Given the description of an element on the screen output the (x, y) to click on. 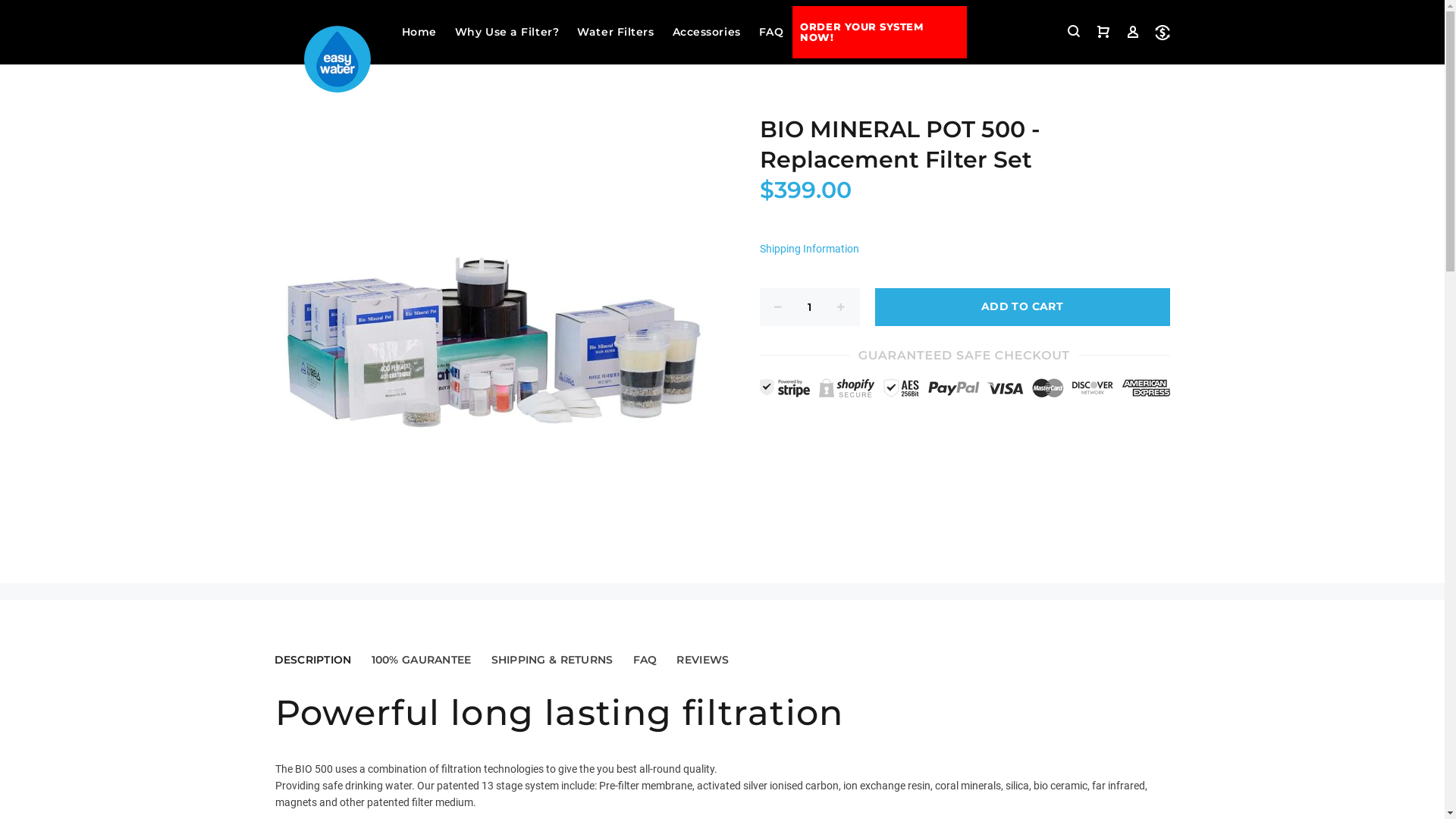
ADD TO CART Element type: text (1022, 307)
Why Use a Filter? Element type: text (506, 31)
Home Element type: text (418, 31)
SHIPPING & RETURNS Element type: text (552, 659)
FAQ Element type: text (771, 31)
DESCRIPTION Element type: text (311, 659)
ORDER YOUR SYSTEM NOW! Element type: text (879, 32)
Shipping Information Element type: text (811, 248)
Water Filters Element type: text (614, 31)
100% GAURANTEE Element type: text (421, 659)
Accessories Element type: text (706, 31)
FAQ Element type: text (645, 659)
REVIEWS Element type: text (702, 659)
